Given the description of an element on the screen output the (x, y) to click on. 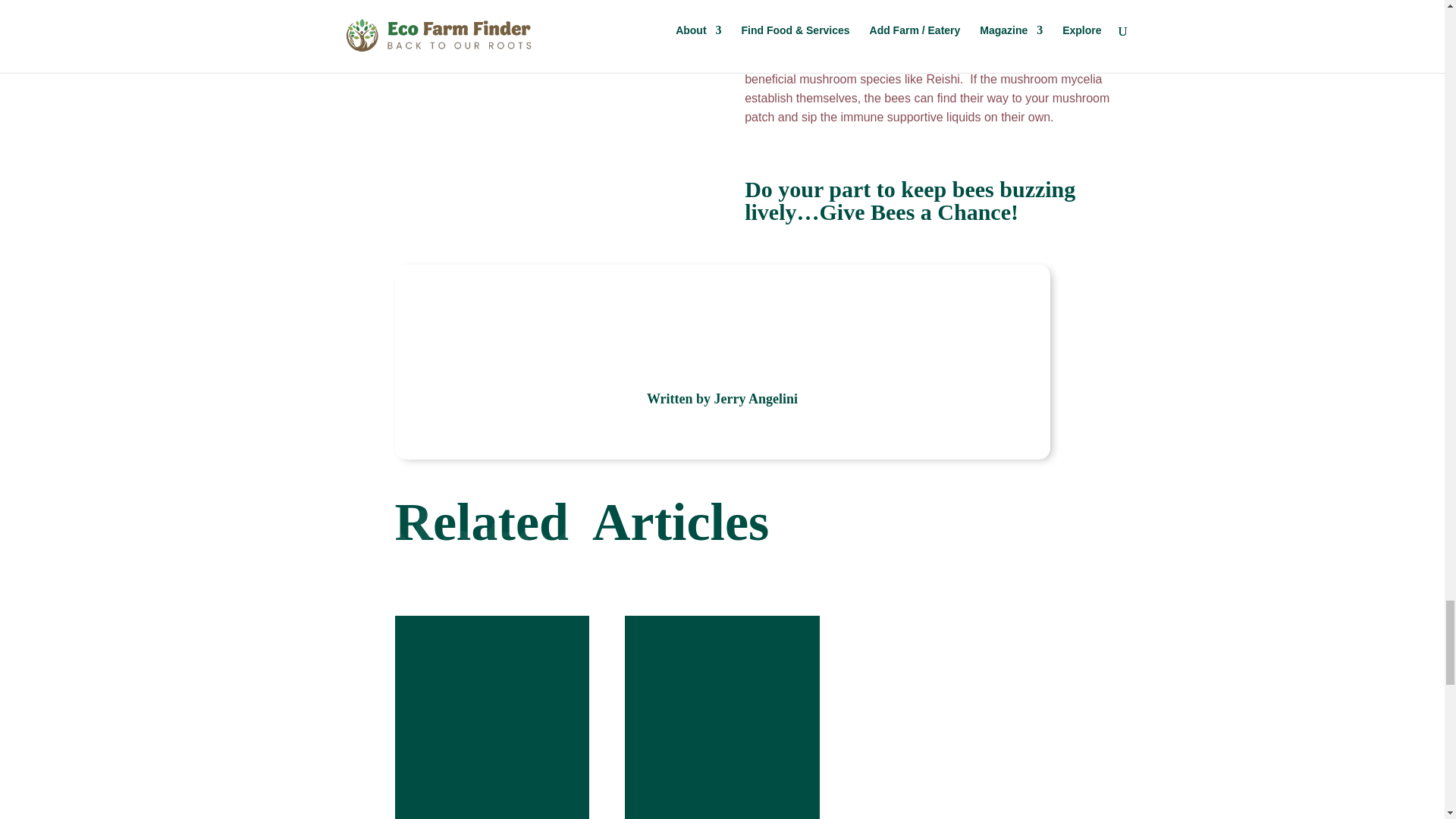
Written by (680, 398)
Jerry Angelini (755, 398)
